Given the description of an element on the screen output the (x, y) to click on. 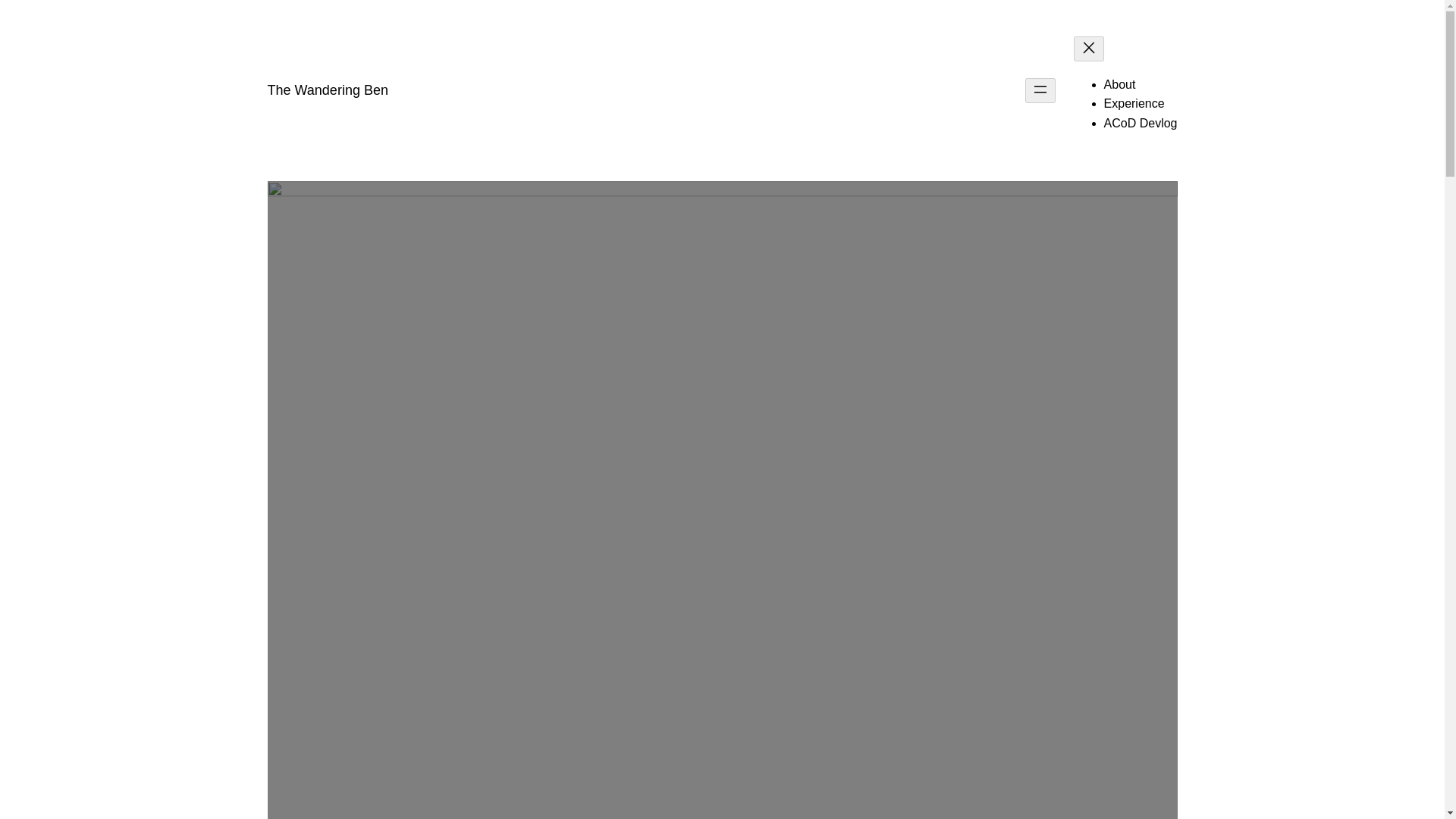
About (1119, 83)
Experience (1133, 103)
ACoD Devlog (1140, 123)
The Wandering Ben (326, 89)
